Given the description of an element on the screen output the (x, y) to click on. 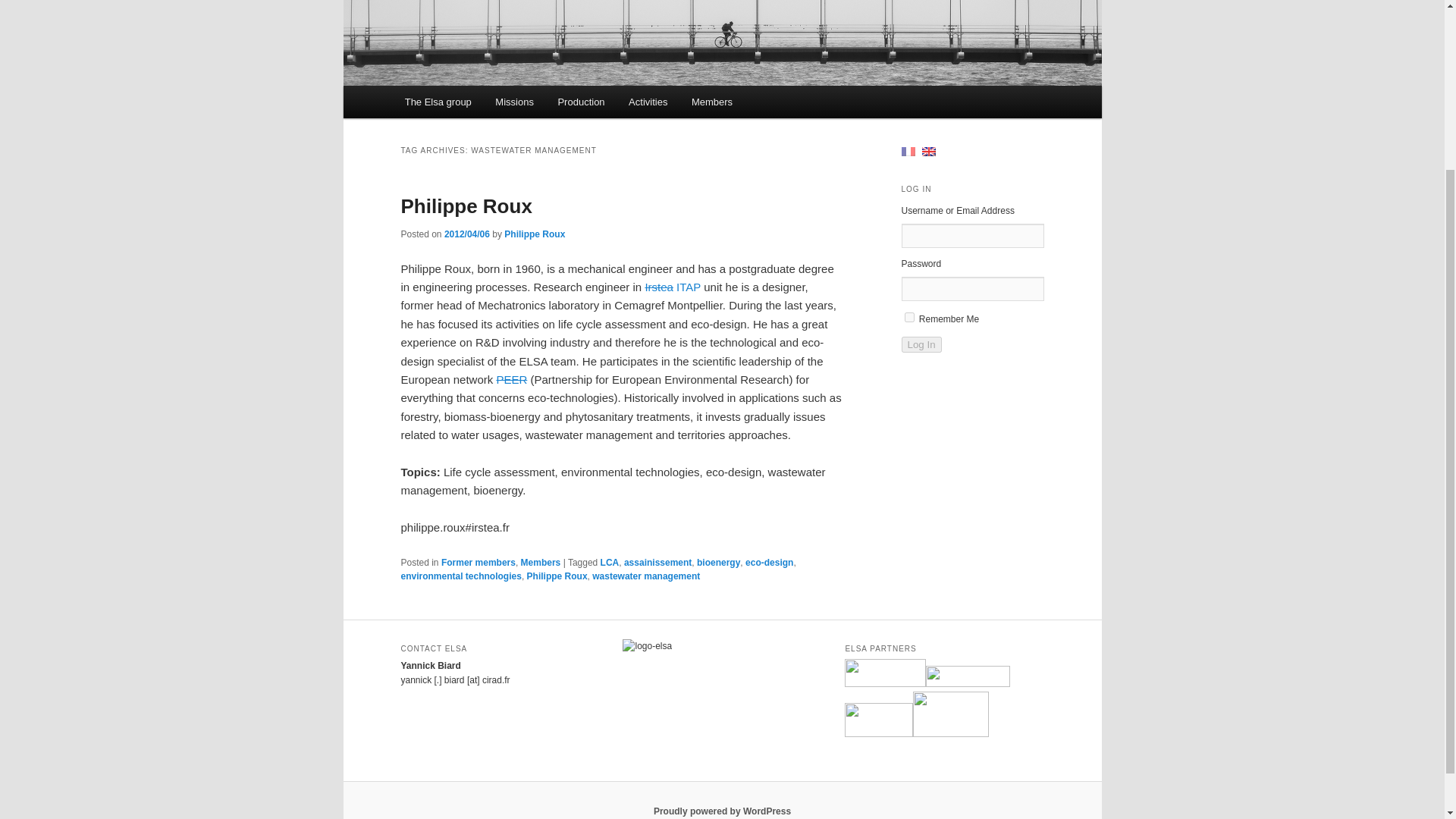
Philippe Roux (465, 205)
07:41 (466, 234)
Members (540, 562)
Former members (478, 562)
LCA (609, 562)
wastewater management (646, 575)
Cirad (885, 673)
Philippe Roux (557, 575)
eco-design (769, 562)
Production (581, 101)
